Given the description of an element on the screen output the (x, y) to click on. 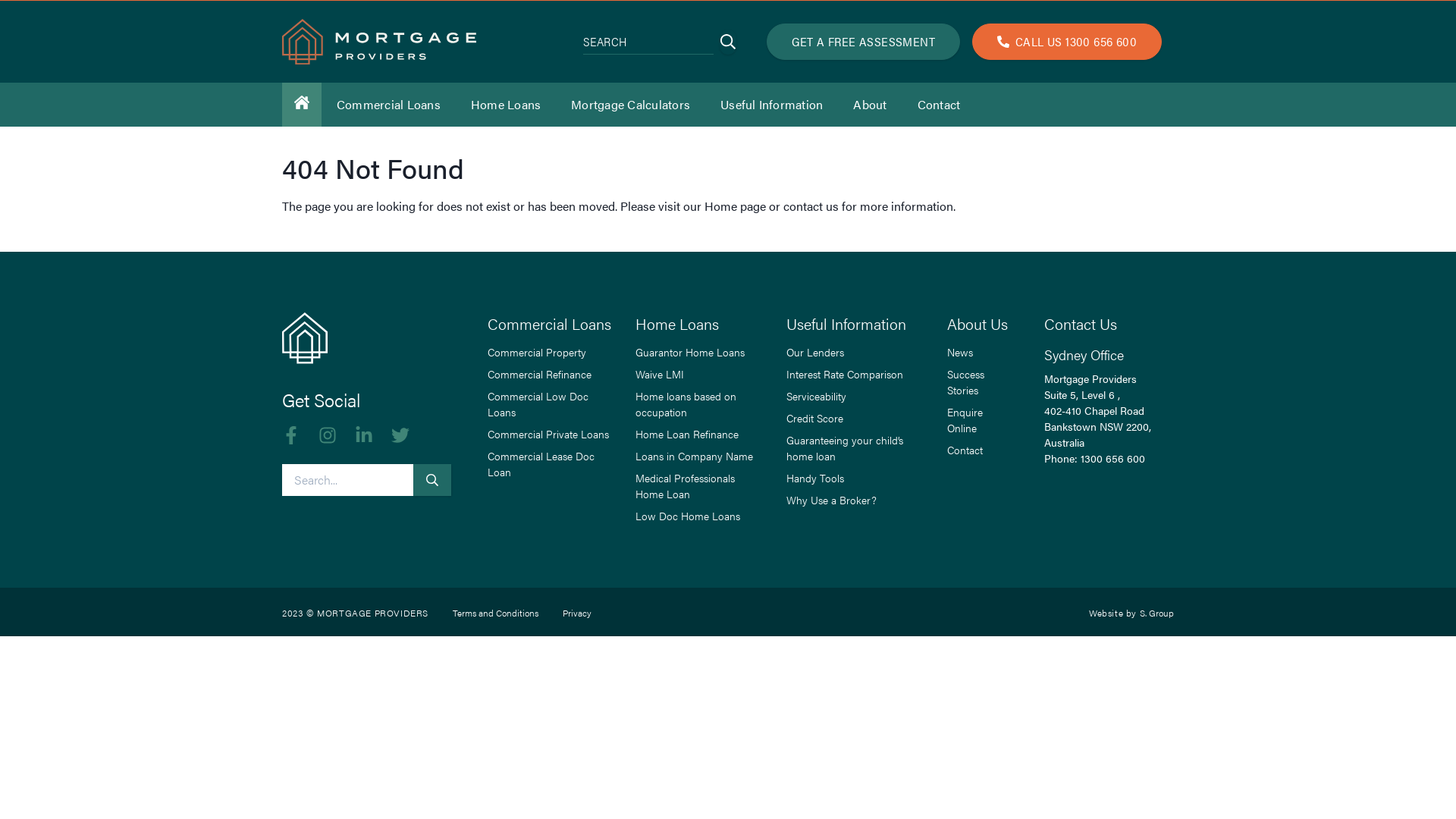
Privacy Element type: text (576, 612)
Medical Professionals Home Loan Element type: text (698, 486)
CALL US 1300 656 600 Element type: text (1066, 41)
Home Loan Refinance Element type: text (686, 434)
Mortgage Calculators Element type: text (630, 104)
Home loans based on occupation Element type: text (698, 404)
Follow us on Instagram Element type: text (327, 437)
Home page Element type: text (734, 205)
About Element type: text (869, 104)
Commercial Lease Doc Loan Element type: text (549, 464)
Commercial Low Doc Loans Element type: text (549, 404)
Why Use a Broker? Element type: text (831, 500)
Commercial Loans Element type: text (388, 104)
Useful Information Element type: text (771, 104)
Like us on Facebook Element type: text (291, 437)
Waive LMI Element type: text (659, 374)
Terms and Conditions Element type: text (495, 612)
SEARCH Element type: text (727, 41)
GET A FREE ASSESSMENT Element type: text (863, 41)
Loans in Company Name Element type: text (694, 456)
Interest Rate Comparison Element type: text (844, 374)
Commercial Property Element type: text (536, 352)
Contact Element type: text (964, 450)
Enquire Online Element type: text (977, 420)
Guarantor Home Loans Element type: text (689, 352)
Commercial Refinance Element type: text (539, 374)
Home Loans Element type: text (505, 104)
Credit Score Element type: text (814, 418)
Success Stories Element type: text (977, 382)
Low Doc Home Loans Element type: text (687, 516)
Our Lenders Element type: text (815, 352)
1300 656 600 Element type: text (1112, 457)
Handy Tools Element type: text (815, 478)
Commercial Private Loans Element type: text (547, 434)
Follow us on linkedIn Element type: text (363, 437)
contact us Element type: text (810, 205)
Serviceability Element type: text (816, 396)
S. Group Element type: text (1156, 612)
News Element type: text (959, 352)
Contact Element type: text (938, 104)
Follow us on Twitter Element type: text (400, 437)
